Given the description of an element on the screen output the (x, y) to click on. 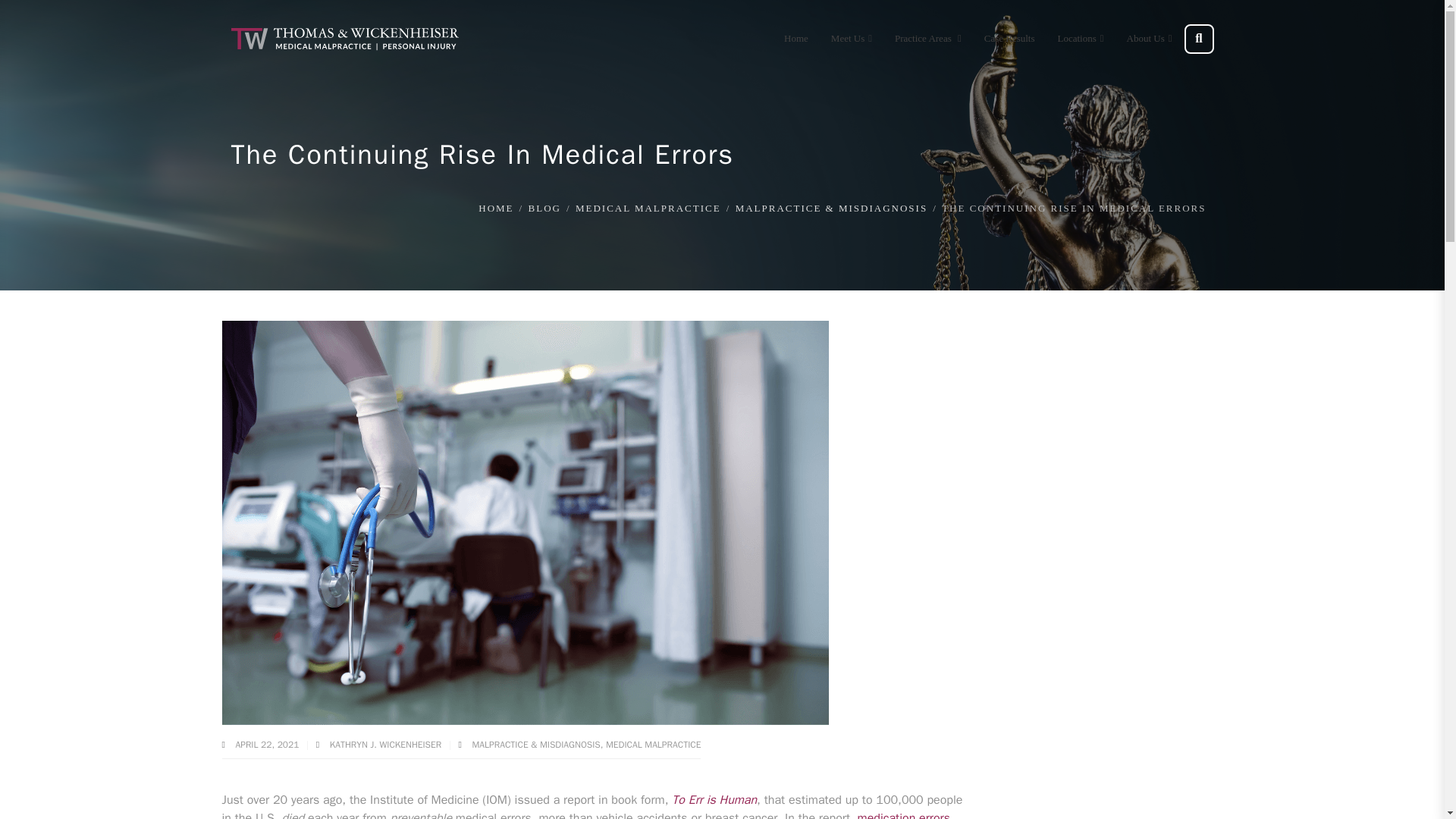
 Kathryn J. Wickenheiser (387, 744)
